Given the description of an element on the screen output the (x, y) to click on. 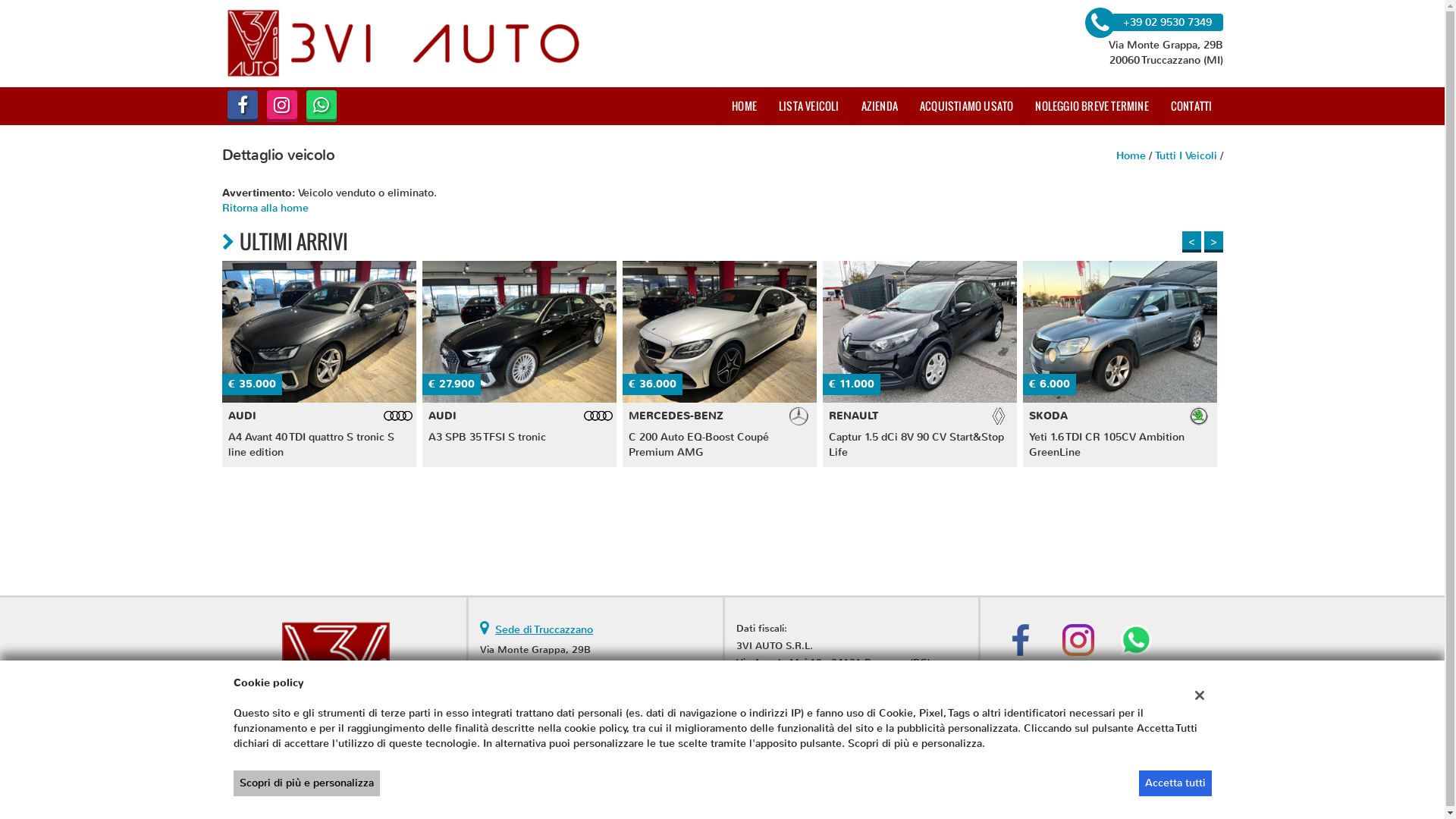
info@3viauto.com Element type: text (606, 717)
< Element type: text (1190, 241)
> Element type: text (1213, 241)
Leggi l'informativa sulla privacy Element type: text (627, 784)
Tutti I Veicoli Element type: text (1185, 155)
NOLEGGIO BREVE TERMINE Element type: text (1090, 106)
AZIENDA Element type: text (879, 106)
+39 02 9530 7349 Element type: text (1153, 22)
Ritorna alla home Element type: text (328, 215)
0295307349 Element type: text (594, 700)
Indicazioni stradali Element type: text (525, 734)
ACQUISTIAMO USATO Element type: text (965, 106)
LISTA VEICOLI Element type: text (808, 106)
CONTATTI Element type: text (1191, 106)
Cookie Policy Element type: text (747, 784)
Home Element type: text (1130, 155)
Sede di Truccazzano Element type: text (544, 629)
+39 02 9530 7349 Element type: text (608, 683)
GestionaleAuto.com Element type: text (1172, 784)
HOME Element type: text (743, 106)
AUDI Element type: text (118, 363)
Accetta tutti Element type: text (1175, 783)
